Given the description of an element on the screen output the (x, y) to click on. 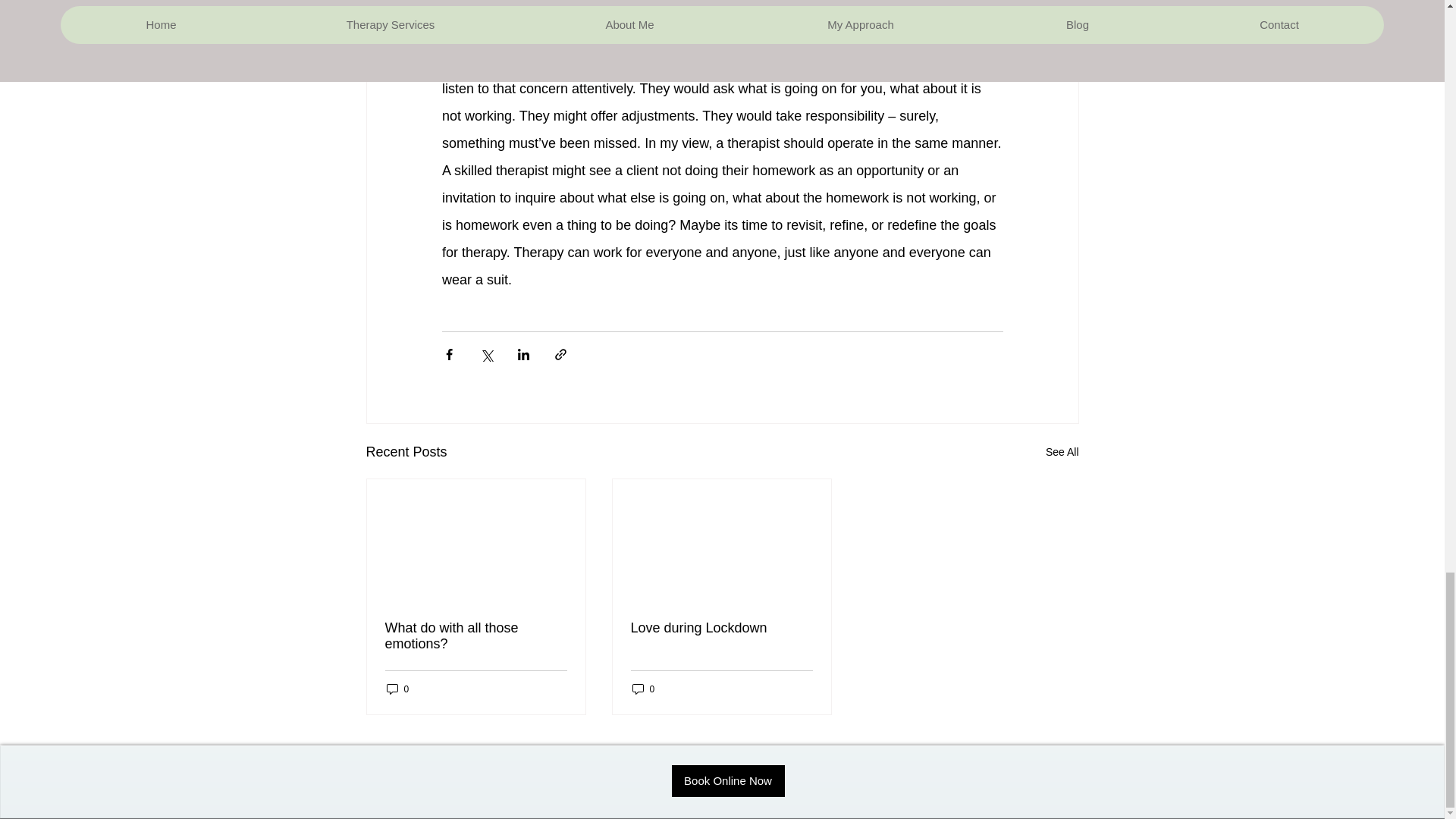
0 (397, 688)
0 (643, 688)
See All (1061, 452)
Love during Lockdown (721, 627)
Book Online Now (727, 780)
What do with all those emotions? (476, 635)
